Given the description of an element on the screen output the (x, y) to click on. 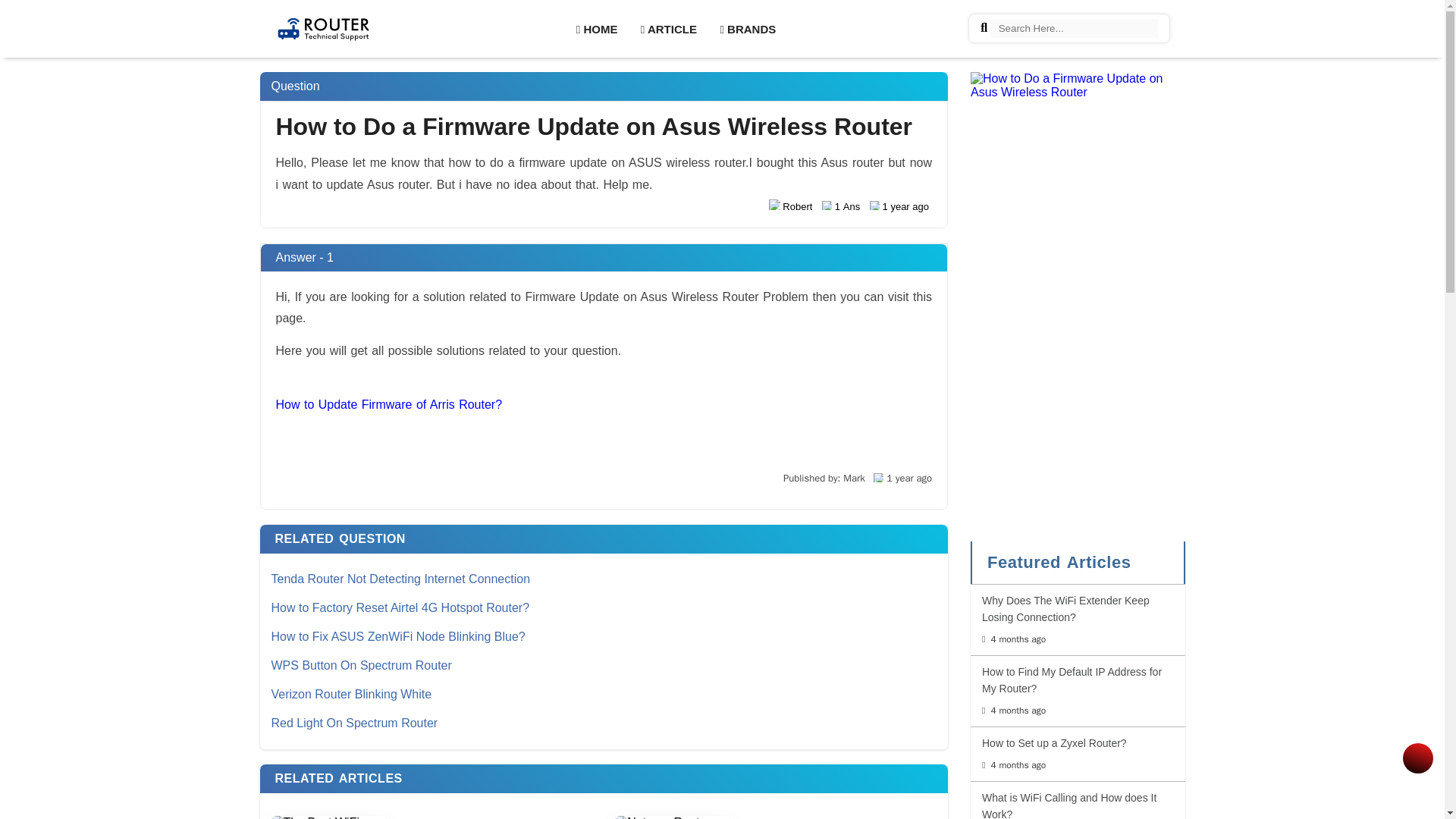
Red Light On Spectrum Router (603, 723)
How to Factory Reset Airtel 4G Hotspot Router? (603, 607)
Verizon Router Blinking White (603, 694)
ARTICLE (668, 27)
HOME (596, 27)
Tenda Router Not Detecting Internet Connection (603, 579)
How to Update Firmware of Arris Router? (389, 404)
How to Fix ASUS ZenWiFi Node Blinking Blue? (603, 636)
BRANDS (747, 27)
WPS Button On Spectrum Router (603, 665)
